Given the description of an element on the screen output the (x, y) to click on. 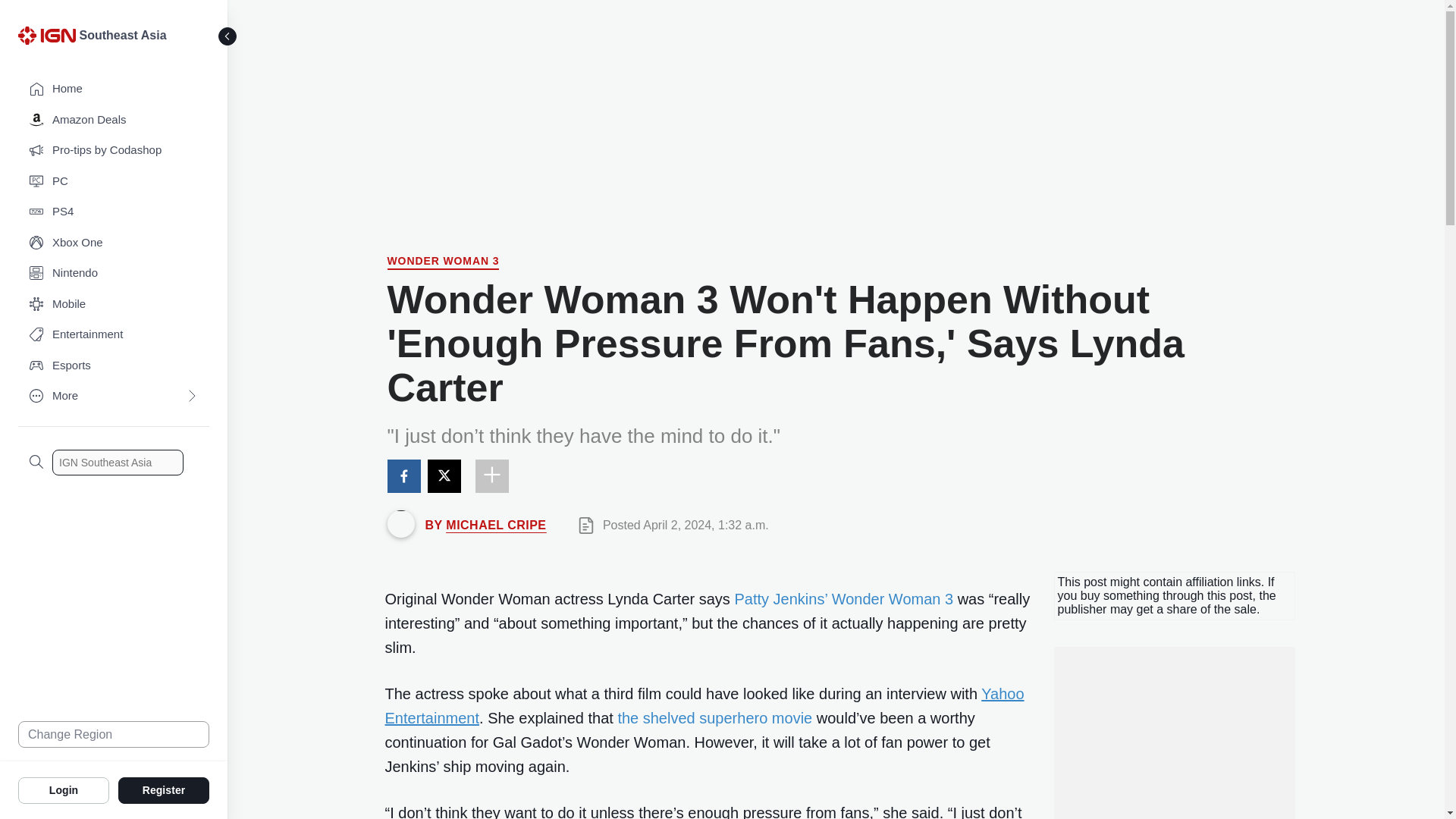
Register (163, 789)
Login (63, 789)
Nintendo (113, 273)
IGN Logo (46, 34)
More (113, 396)
Esports (113, 365)
PS4 (113, 211)
Xbox One (113, 242)
PC (113, 181)
MICHAEL CRIPE (495, 524)
Entertainment (113, 334)
Mobile (113, 304)
Wonder Woman 3 (443, 262)
Amazon Deals (113, 119)
Pro-tips by Codashop (113, 150)
